Given the description of an element on the screen output the (x, y) to click on. 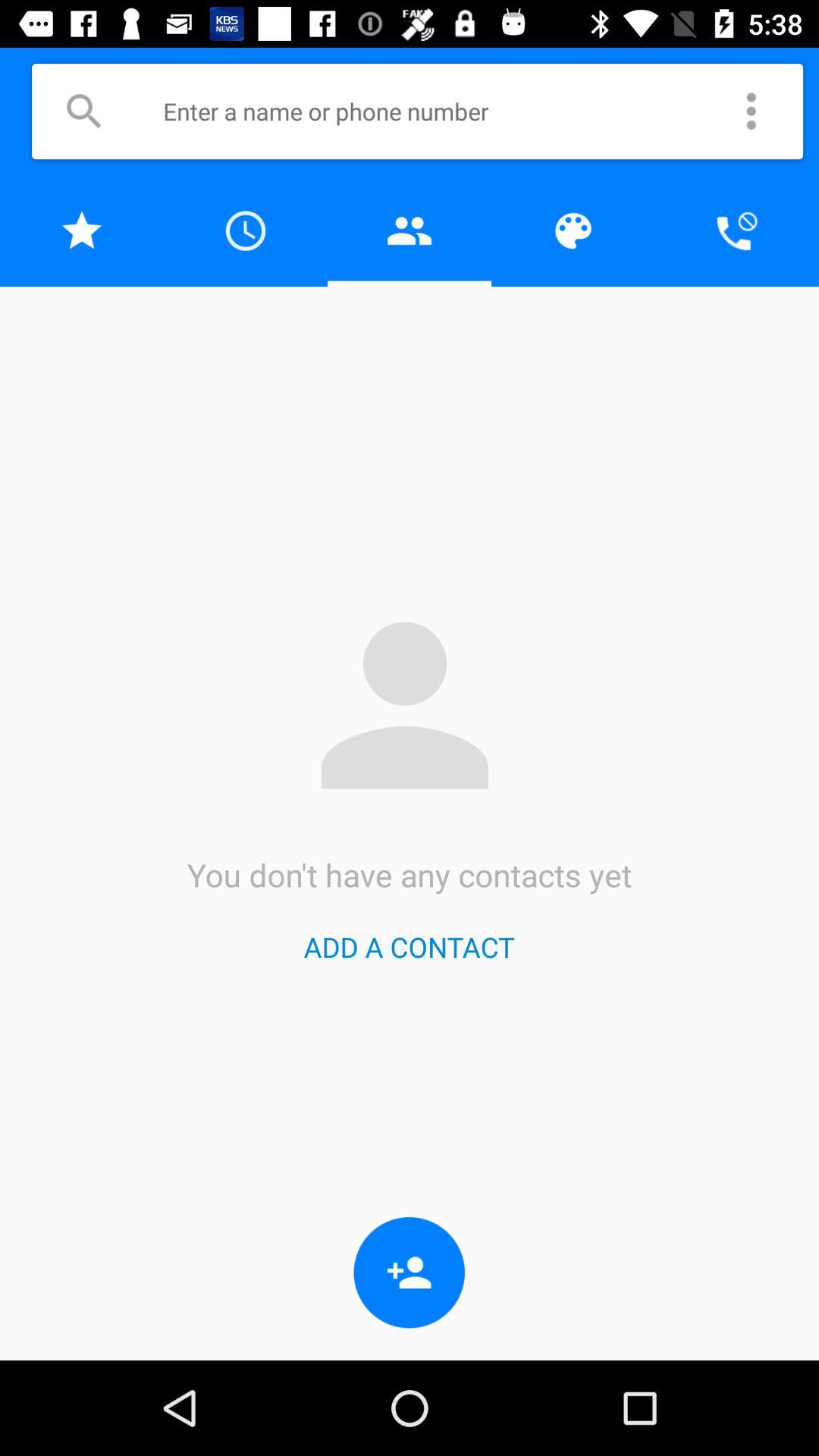
favorite contacts option (81, 230)
